Given the description of an element on the screen output the (x, y) to click on. 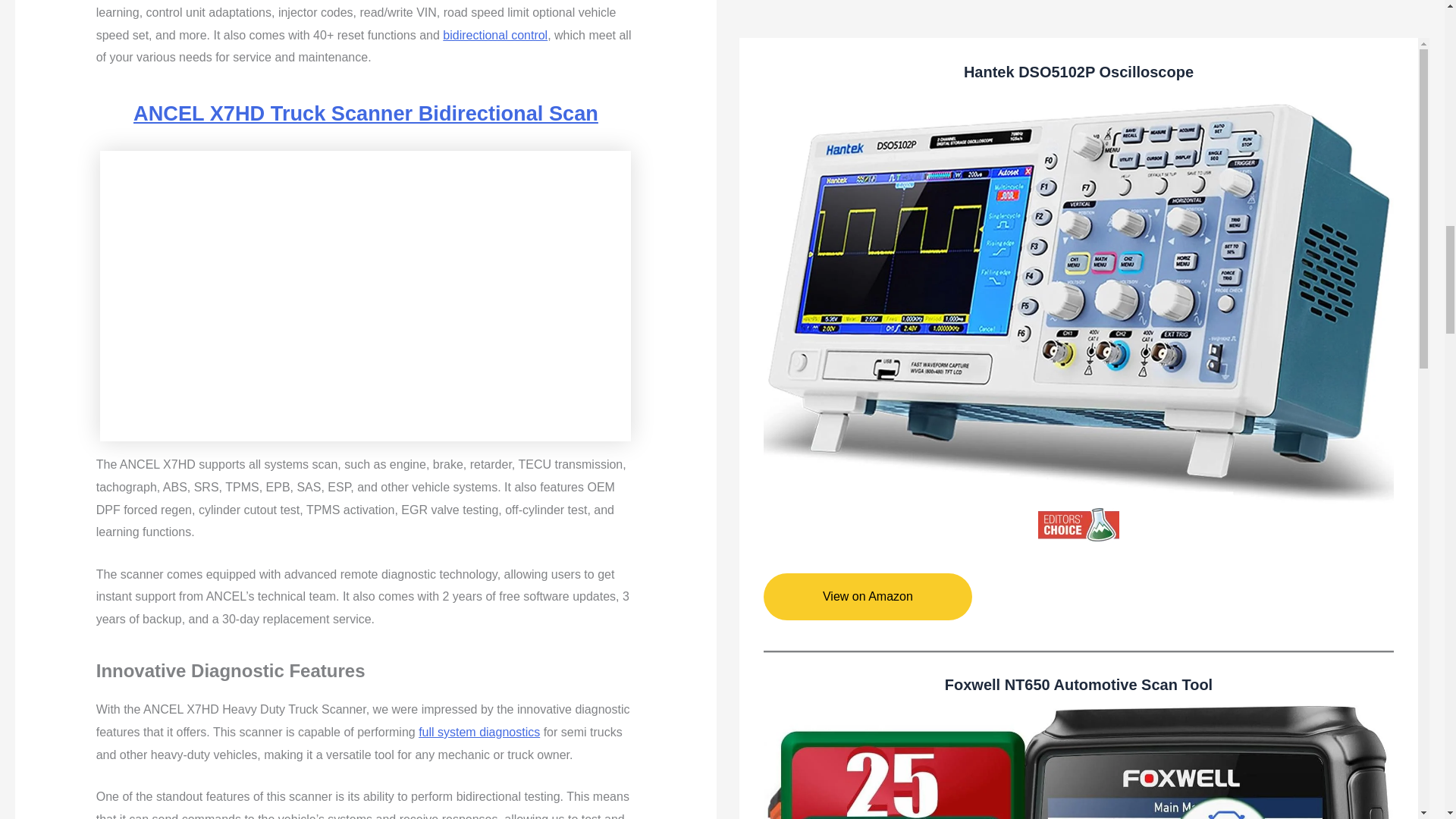
full system diagnostics (479, 731)
ANCEL X7HD Truck Scanner Bidirectional Scan (365, 113)
bidirectional control (494, 34)
